Given the description of an element on the screen output the (x, y) to click on. 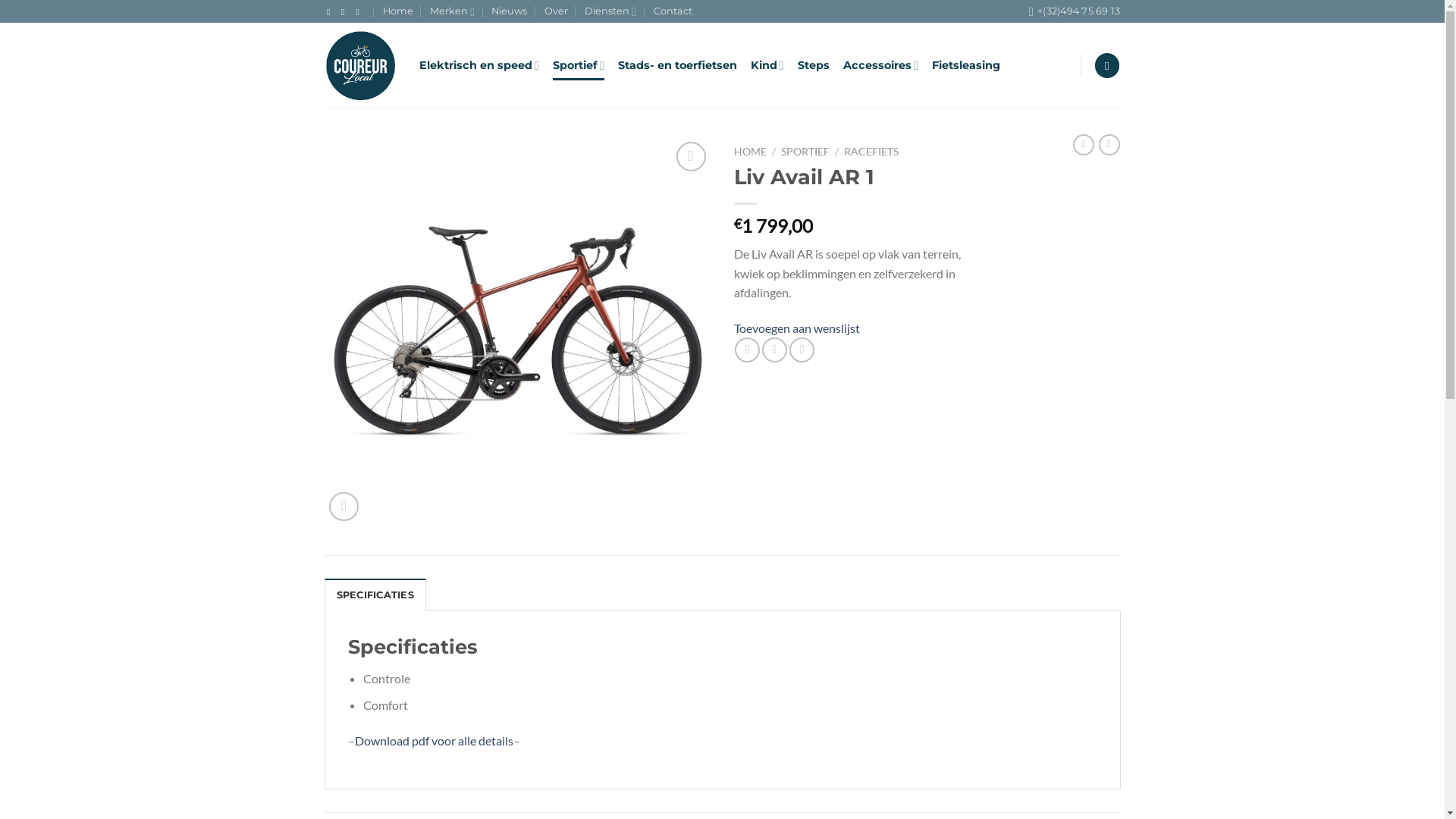
RACEFIETS Element type: text (871, 151)
Steps Element type: text (813, 64)
avail ar 1 Element type: hover (517, 331)
Nieuws Element type: text (509, 11)
Toevoegen aan wenslijst Element type: text (796, 327)
Kind Element type: text (767, 65)
Volg ons op Twitter Element type: hover (359, 11)
Deel op Facebook Element type: hover (746, 349)
HOME Element type: text (750, 151)
Over Element type: text (555, 11)
Contact Element type: text (672, 11)
Merken Element type: text (451, 11)
Pin op Pinterest Element type: hover (801, 349)
Download pdf voor alle details Element type: text (433, 740)
Home Element type: text (397, 11)
Deel op Twitter Element type: hover (774, 349)
SPECIFICATIES Element type: text (375, 594)
SPORTIEF Element type: text (805, 151)
Diensten Element type: text (610, 11)
Like ons op Facebook Element type: hover (330, 11)
+(32)494 75 69 13 Element type: text (1074, 11)
Sportief Element type: text (578, 65)
Accessoires Element type: text (880, 65)
Stads- en toerfietsen Element type: text (677, 64)
Elektrisch en speed Element type: text (478, 65)
Volg ons op Instagram Element type: hover (345, 11)
Fietsleasing Element type: text (965, 64)
Zoom Element type: hover (343, 506)
